Given the description of an element on the screen output the (x, y) to click on. 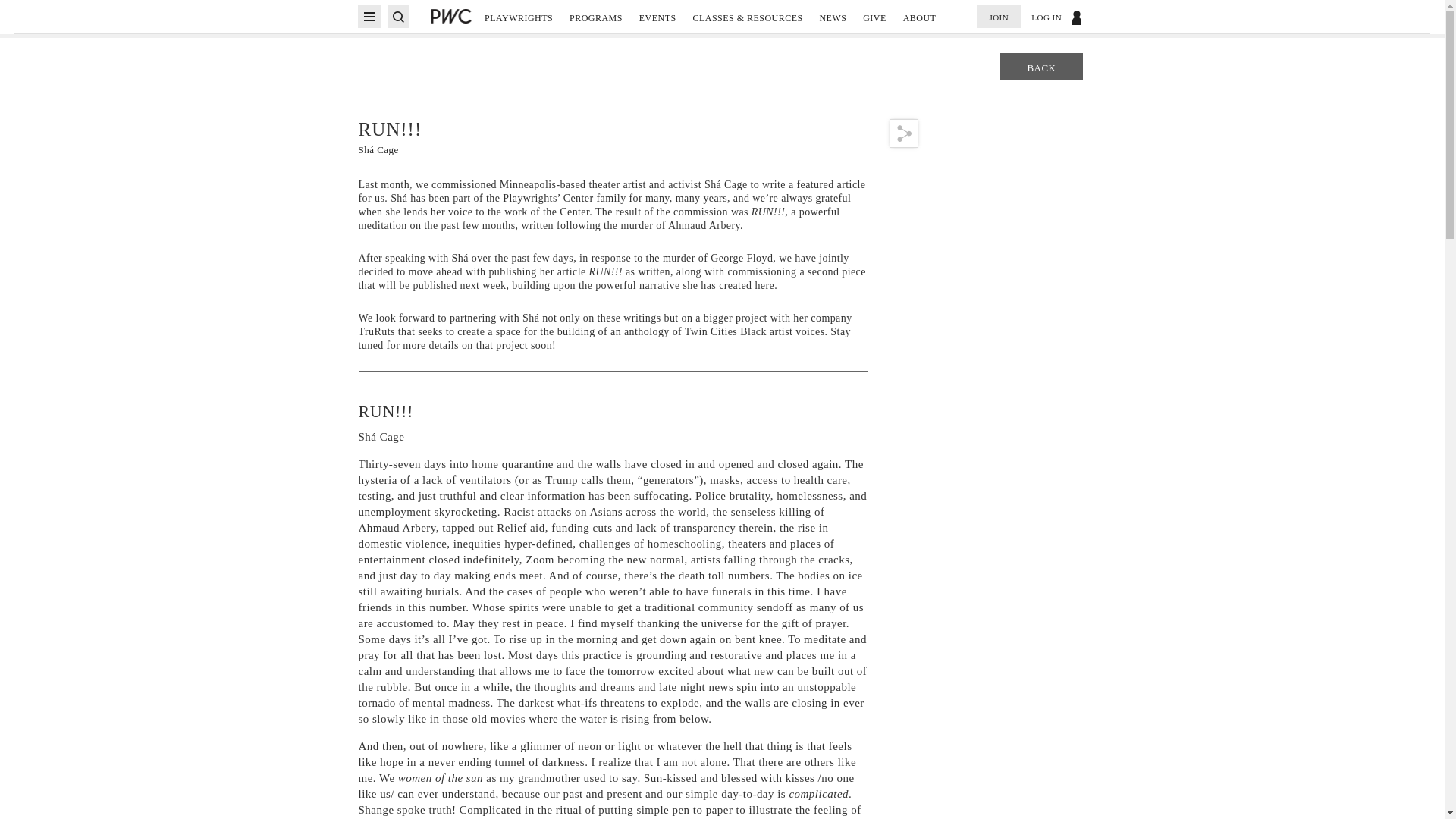
PLAYWRIGHTS (518, 24)
ABOUT (919, 24)
PROGRAMS (596, 24)
MENU (369, 15)
EVENTS (658, 24)
NEWS (831, 24)
SEARCH (398, 15)
GIVE (874, 24)
